Given the description of an element on the screen output the (x, y) to click on. 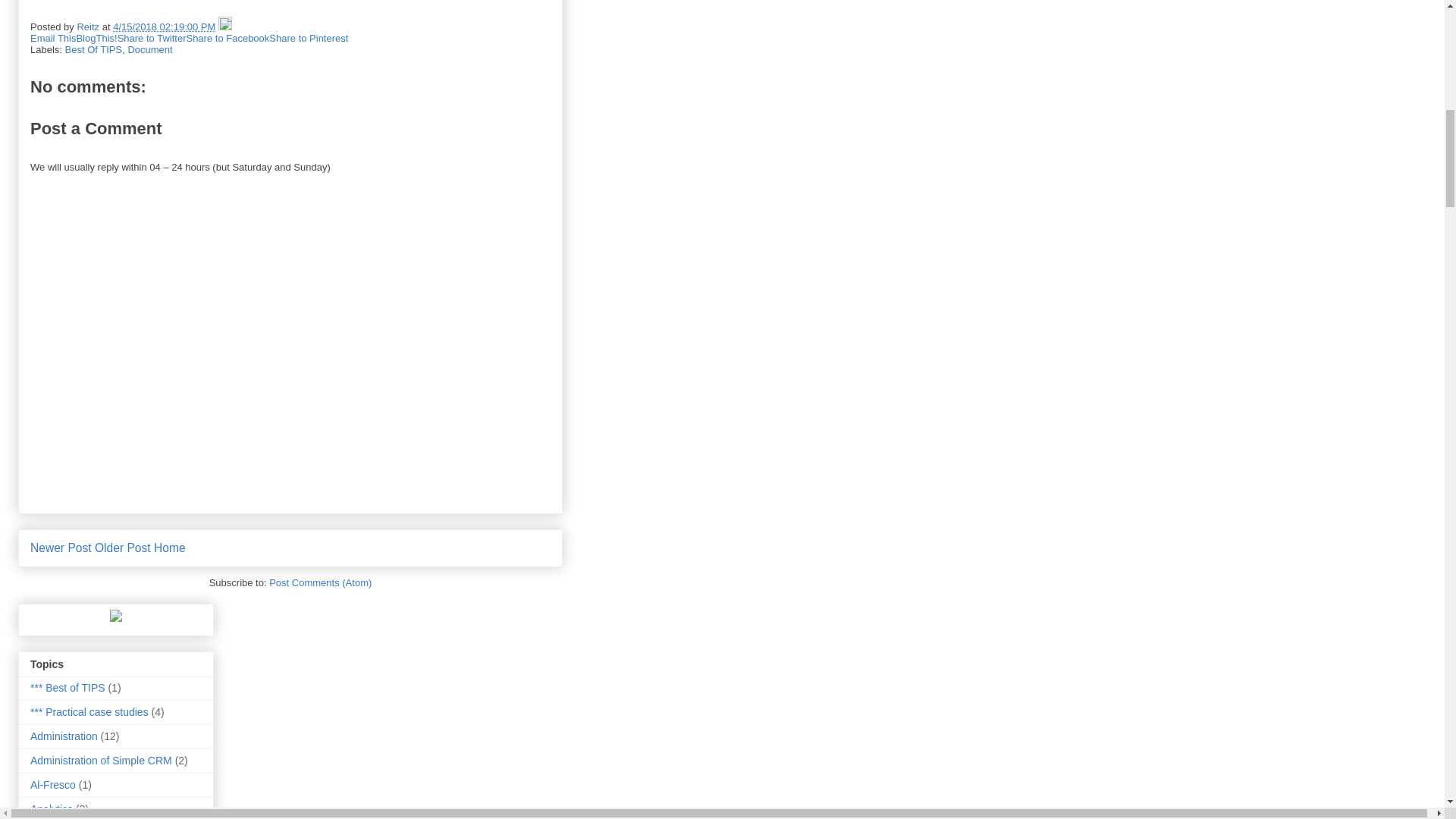
Al-Fresco (52, 784)
Share to Pinterest (308, 38)
author profile (89, 26)
Analytics (51, 808)
Administration of Simple CRM (100, 760)
Home (170, 547)
Best Of TIPS (93, 49)
Older Post (122, 547)
Edit Post (224, 26)
Share to Twitter (151, 38)
Share to Facebook (227, 38)
Newer Post (60, 547)
Older Post (122, 547)
Share to Pinterest (308, 38)
BlogThis! (95, 38)
